Given the description of an element on the screen output the (x, y) to click on. 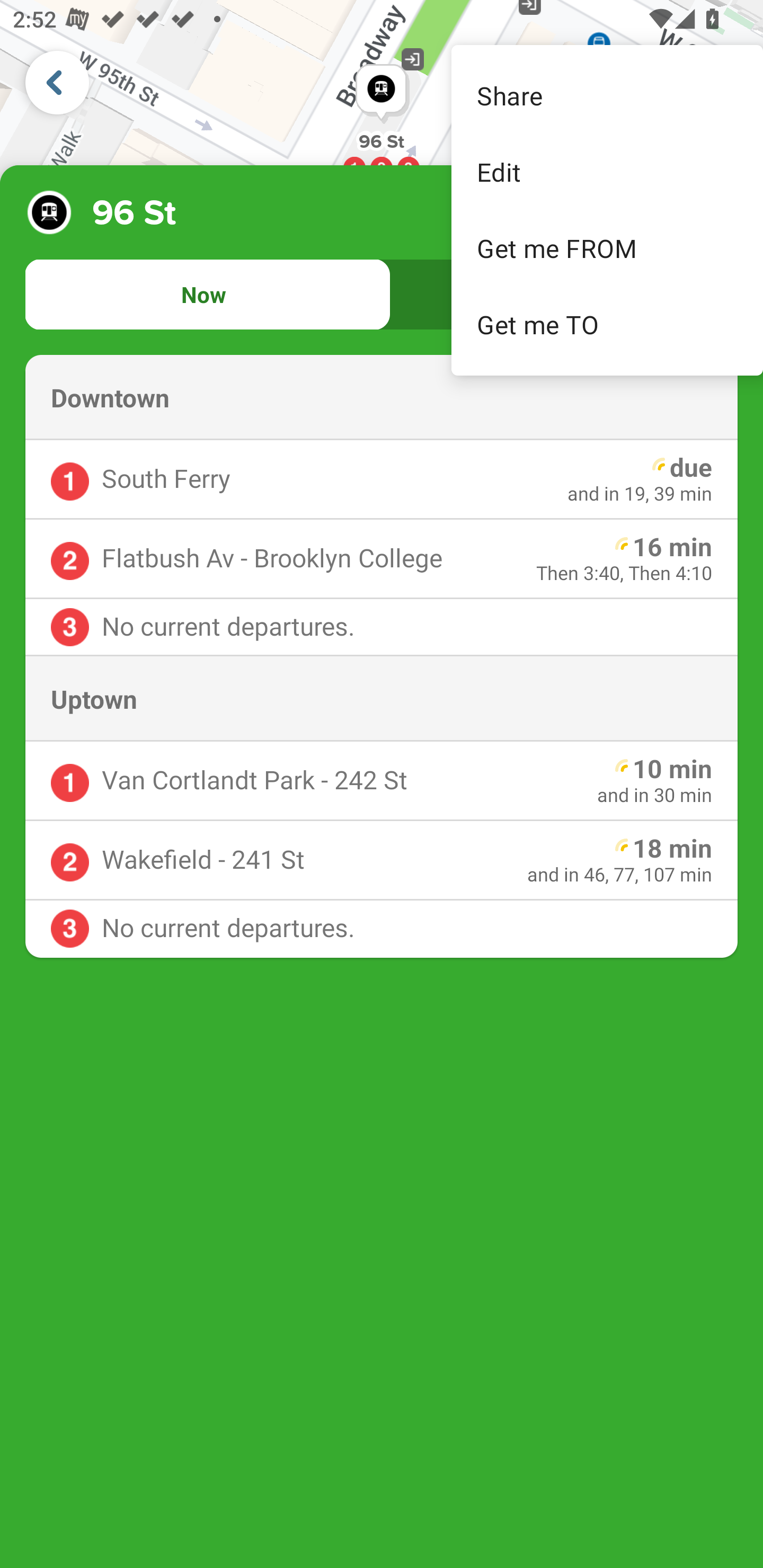
Get me FROM (607, 248)
